Given the description of an element on the screen output the (x, y) to click on. 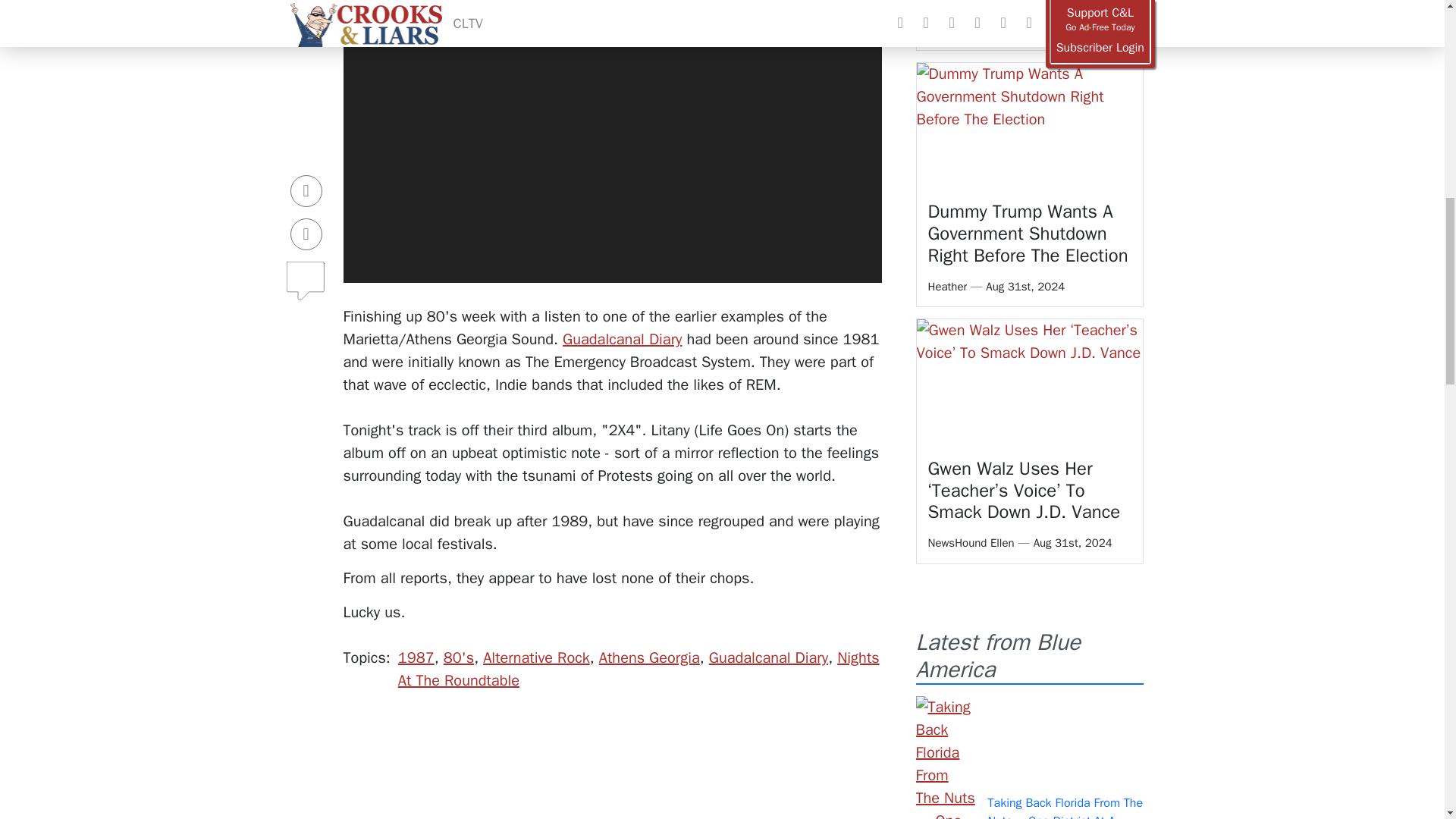
Nights At The Roundtable (638, 669)
1987 (415, 657)
Athens Georgia (649, 657)
80's (459, 657)
Guadalcanal Diary (768, 657)
Guadalcanal Diary (621, 339)
Alternative Rock (536, 657)
